Given the description of an element on the screen output the (x, y) to click on. 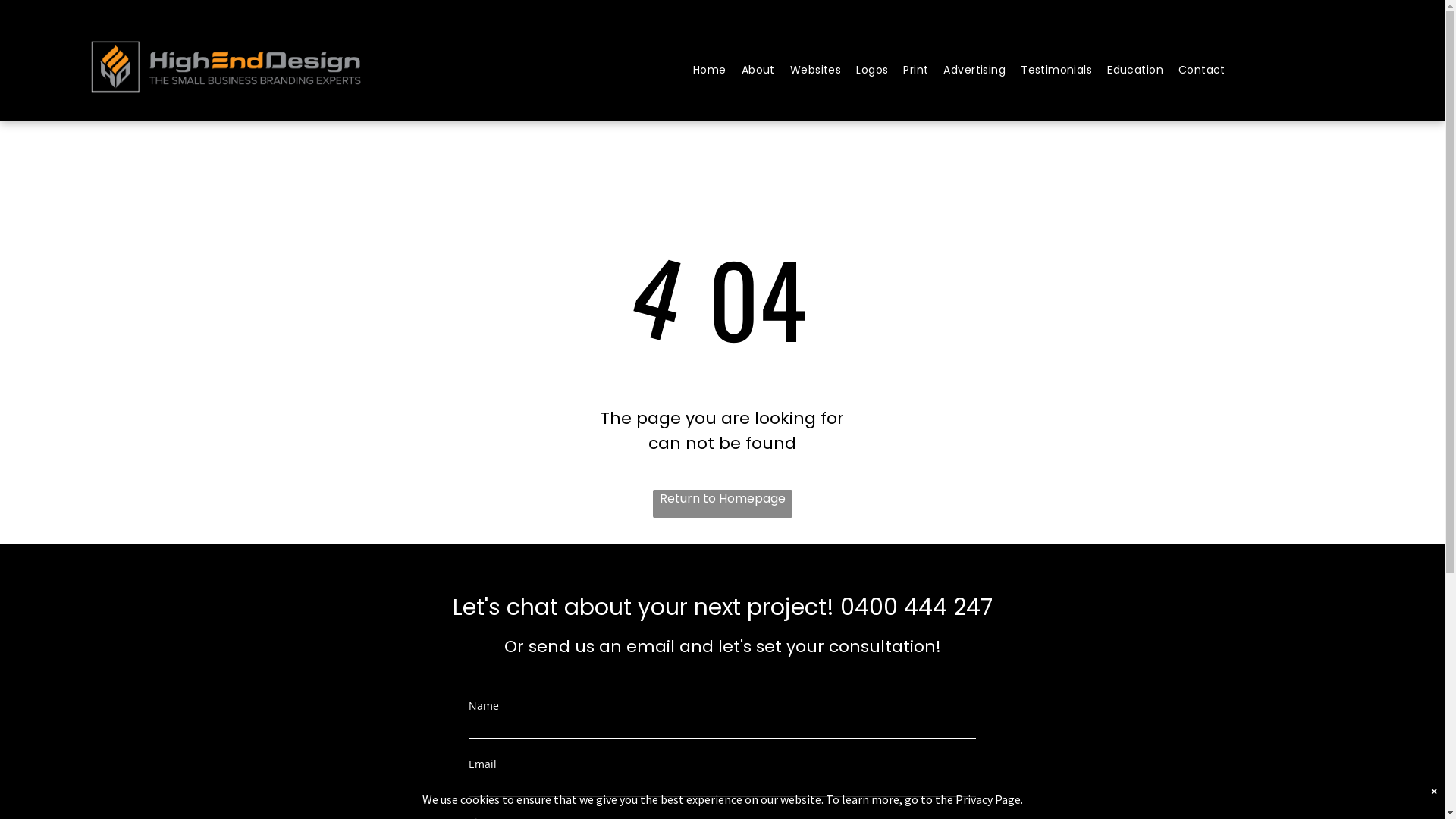
Contact Element type: text (1201, 69)
Advertising Element type: text (974, 69)
Return to Homepage Element type: text (721, 503)
Websites Element type: text (815, 69)
Education Element type: text (1134, 69)
Logos Element type: text (871, 69)
Testimonials Element type: text (1056, 69)
About Element type: text (758, 69)
Home Element type: text (709, 69)
Print Element type: text (915, 69)
